Given the description of an element on the screen output the (x, y) to click on. 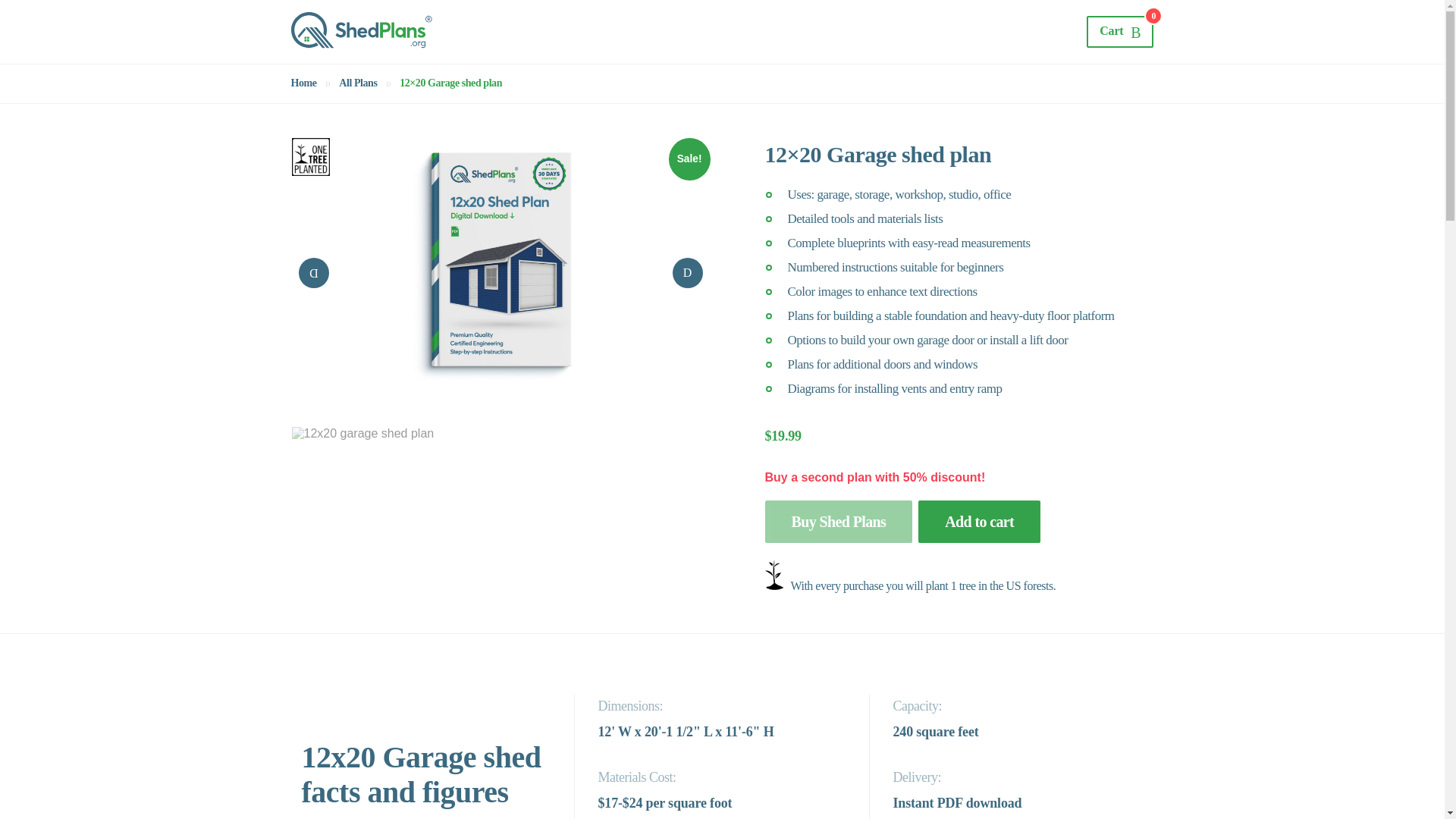
Home (304, 83)
All Plans (358, 83)
